Given the description of an element on the screen output the (x, y) to click on. 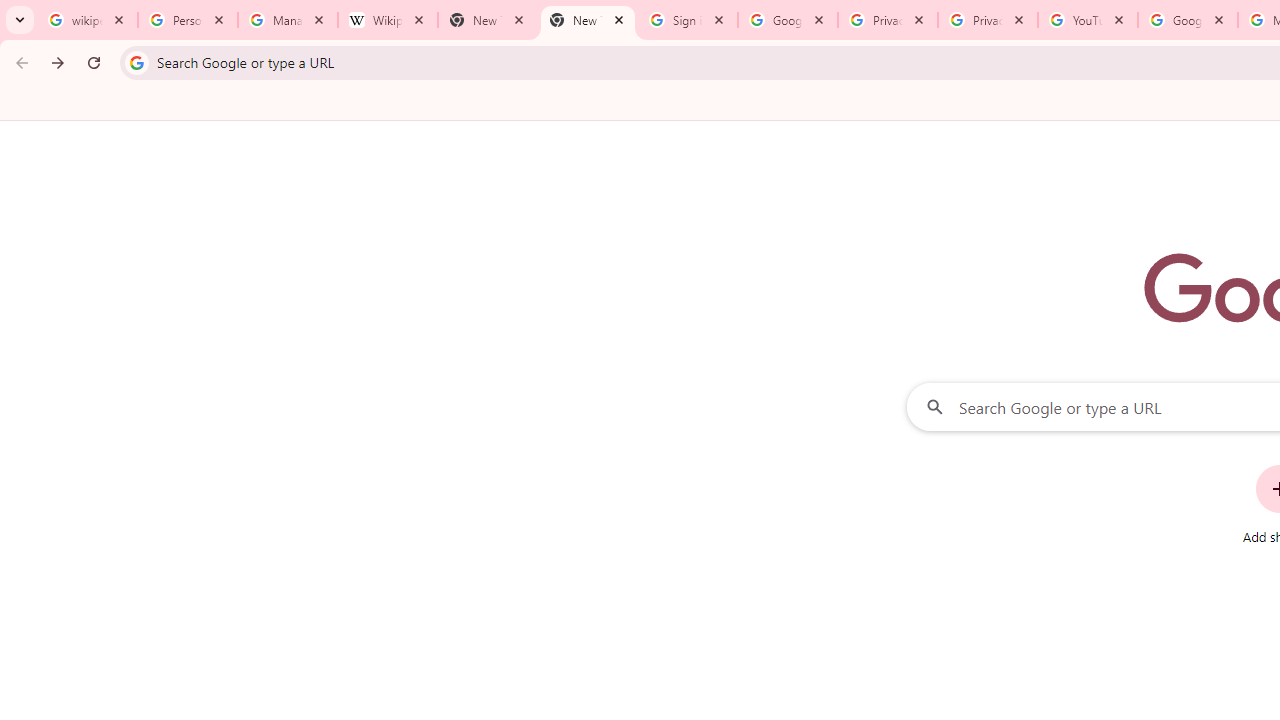
Sign in - Google Accounts (687, 20)
Google Drive: Sign-in (788, 20)
Manage your Location History - Google Search Help (287, 20)
Search icon (136, 62)
YouTube (1087, 20)
New Tab (587, 20)
New Tab (487, 20)
